Given the description of an element on the screen output the (x, y) to click on. 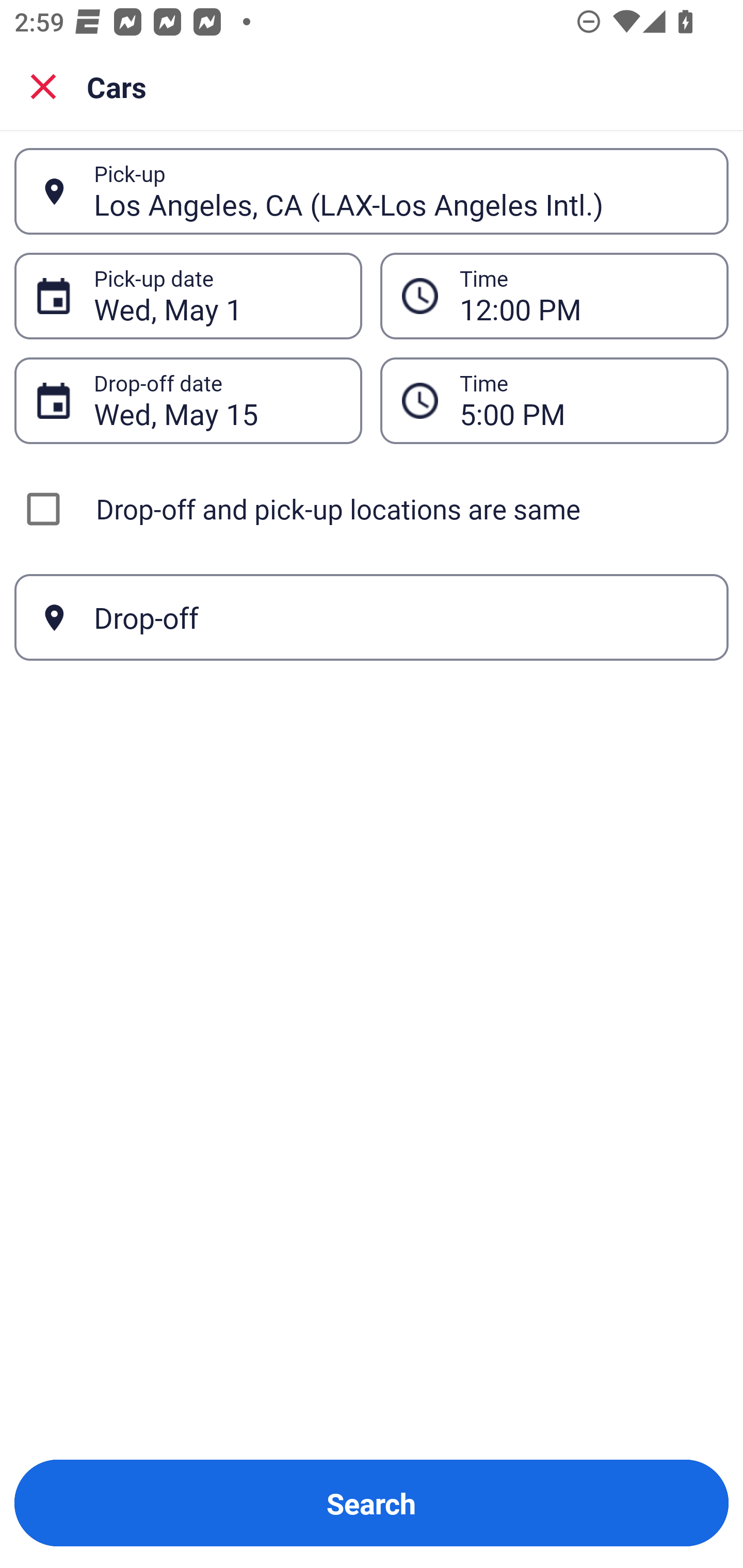
Close search screen (43, 86)
Los Angeles, CA (LAX-Los Angeles Intl.) Pick-up (371, 191)
Los Angeles, CA (LAX-Los Angeles Intl.) (399, 191)
Wed, May 1 Pick-up date (188, 295)
12:00 PM (554, 295)
Wed, May 1 (216, 296)
12:00 PM (582, 296)
Wed, May 15 Drop-off date (188, 400)
5:00 PM (554, 400)
Wed, May 15 (216, 400)
5:00 PM (582, 400)
Drop-off and pick-up locations are same (371, 508)
Drop-off (371, 616)
Search Button Search (371, 1502)
